Given the description of an element on the screen output the (x, y) to click on. 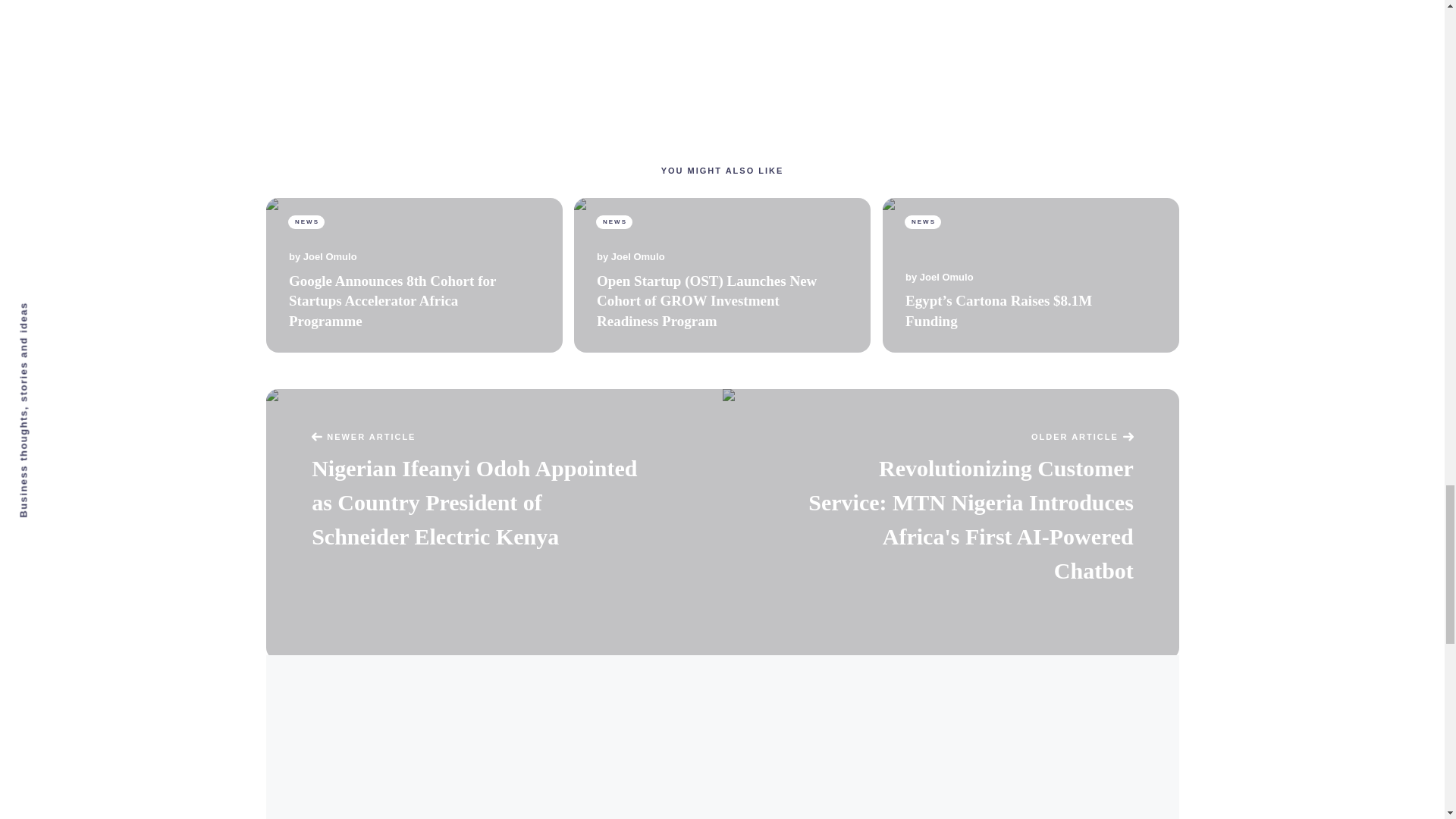
Joel Omulo (947, 277)
Joel Omulo (638, 256)
Joel Omulo (329, 256)
